Given the description of an element on the screen output the (x, y) to click on. 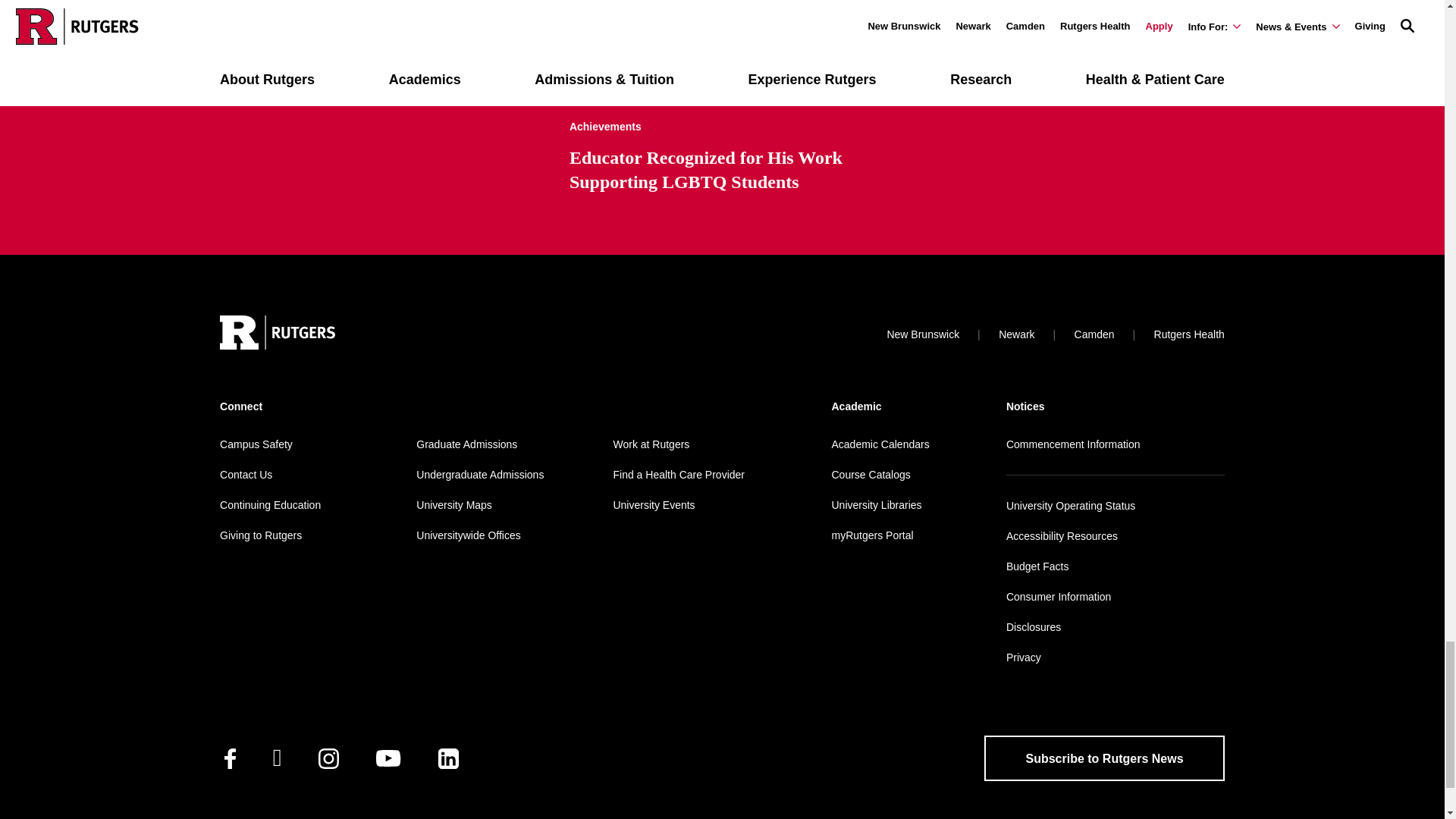
Disclosures  (1033, 626)
Continuing Education (269, 504)
University Maps (454, 504)
Accessibility Resources (1062, 535)
Consumer Information (1059, 596)
Work at Rutgers (650, 444)
Course Catalogs (870, 474)
Graduate Admissions (466, 444)
University Operating Status (1070, 505)
Giving to Rutgers (260, 535)
Budget Facts (1037, 566)
Campus Safety (255, 444)
Undergraduate Admissions (479, 474)
Academic Calendars (879, 444)
myRutgers Portal (871, 535)
